Given the description of an element on the screen output the (x, y) to click on. 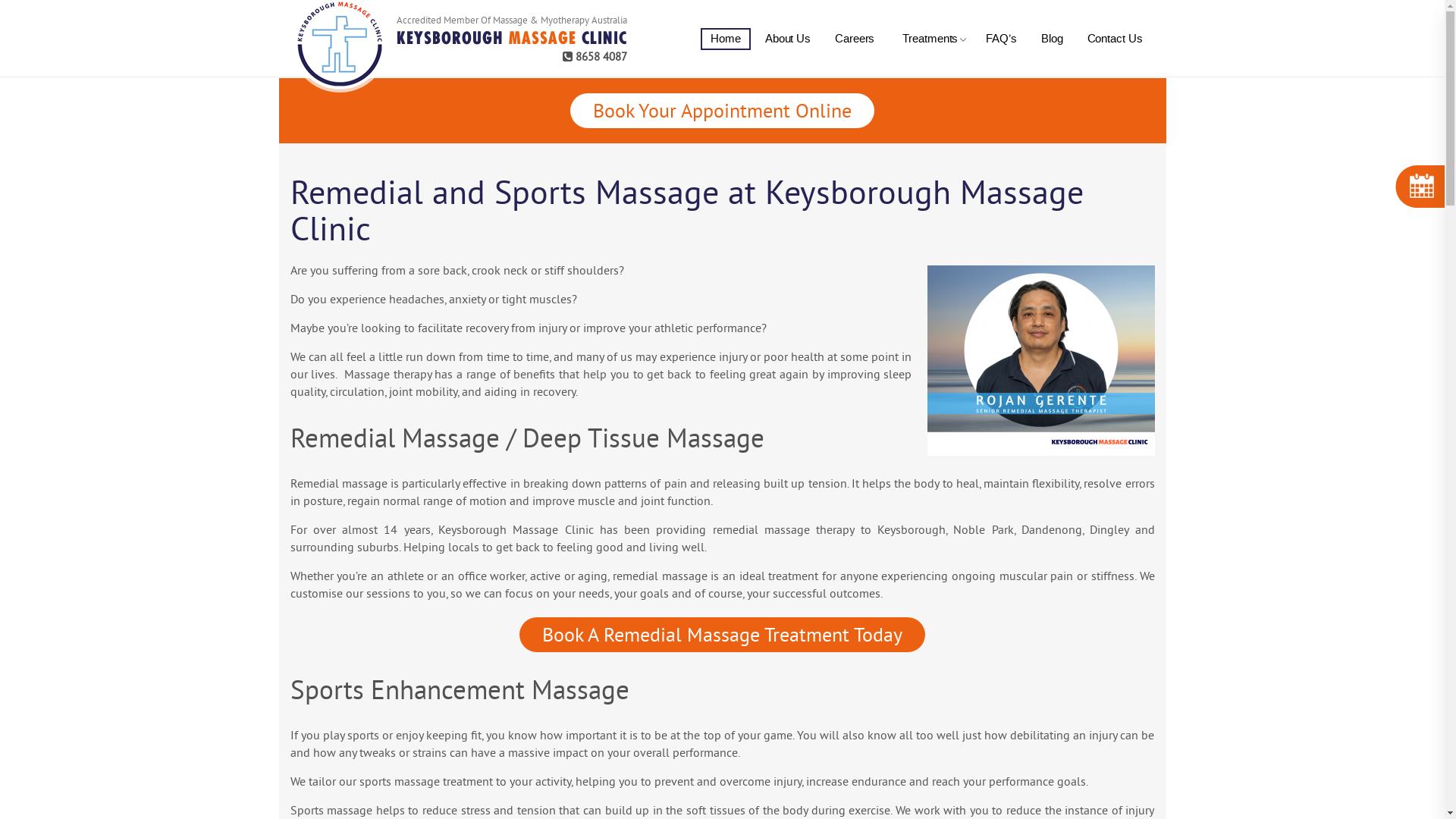
Careers Element type: text (854, 39)
8658 4087 Element type: text (510, 64)
Home Element type: text (725, 39)
Treatments Element type: text (929, 39)
Blog Element type: text (1052, 39)
About Us Element type: text (787, 39)
Book A Remedial Massage Treatment Today Element type: text (722, 636)
Book Your Appointment Online Element type: text (722, 110)
Contact Us Element type: text (1113, 39)
